Given the description of an element on the screen output the (x, y) to click on. 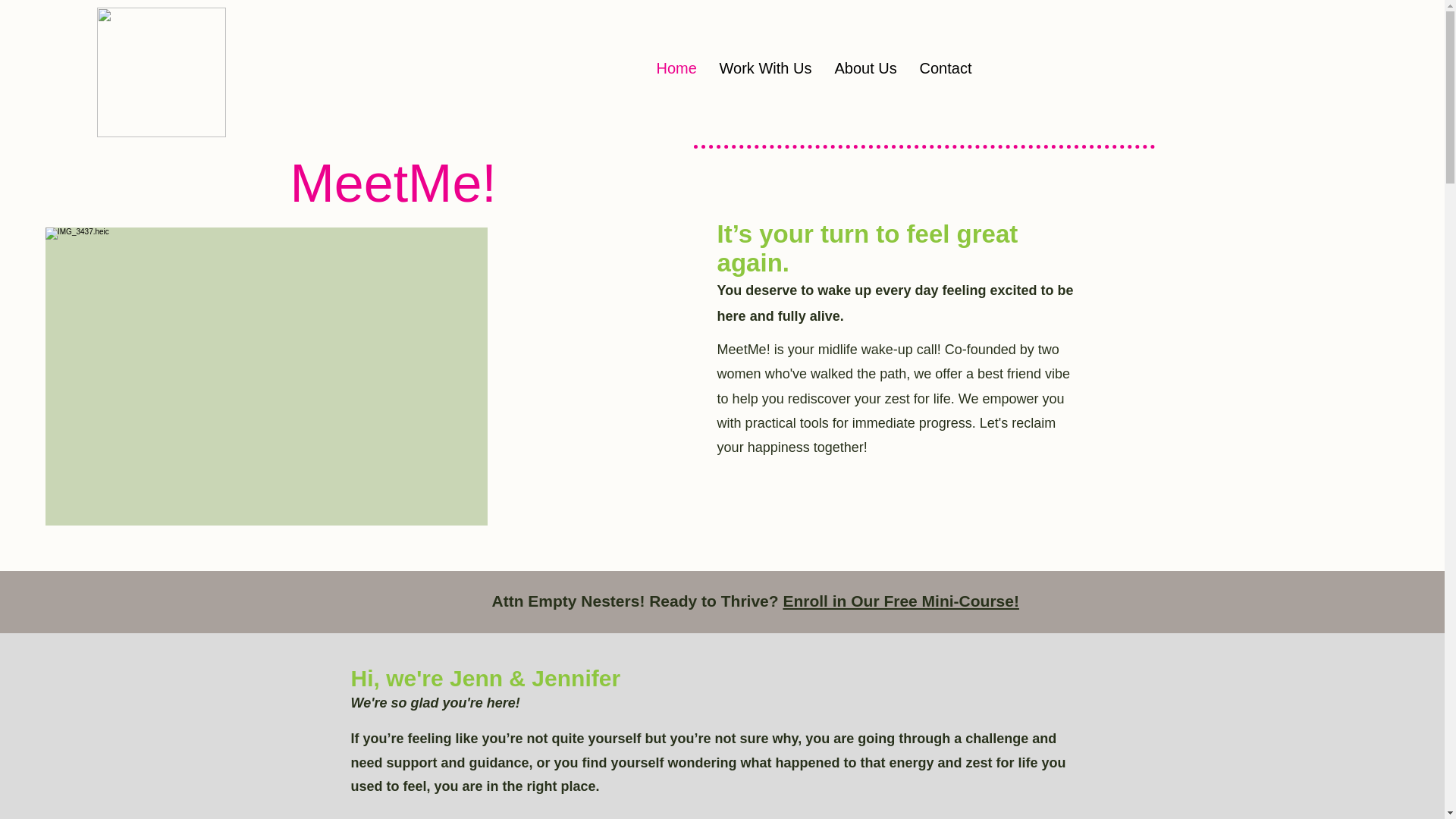
About Us (866, 68)
Work With Us (765, 68)
Enroll in Our Free Mini-Course! (901, 600)
Contact (946, 68)
